Given the description of an element on the screen output the (x, y) to click on. 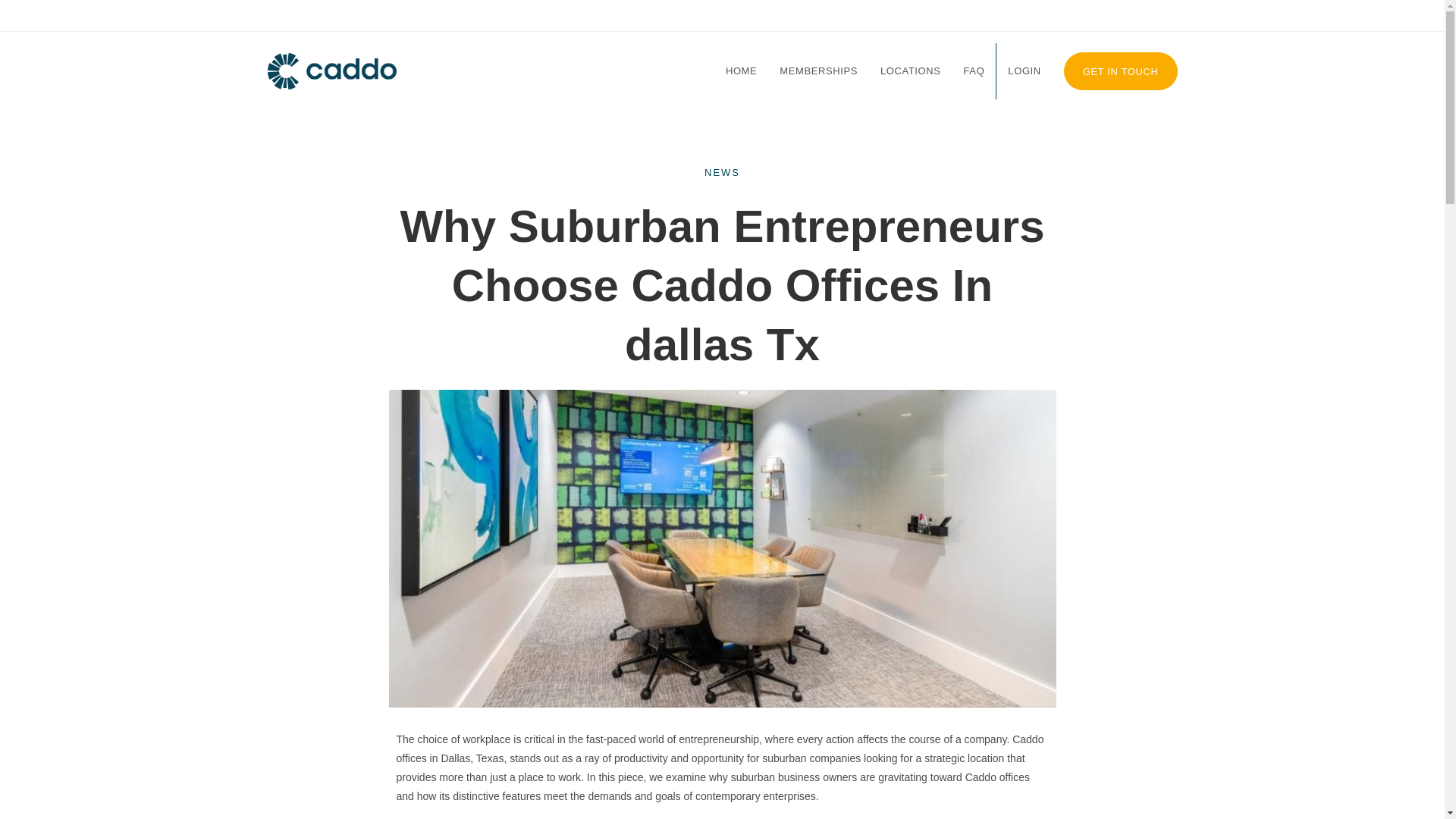
NEWS (721, 172)
LOGIN (1023, 71)
MEMBERSHIPS (818, 71)
LOCATIONS (910, 71)
HOME (741, 71)
GET IN TOUCH (1120, 71)
